Given the description of an element on the screen output the (x, y) to click on. 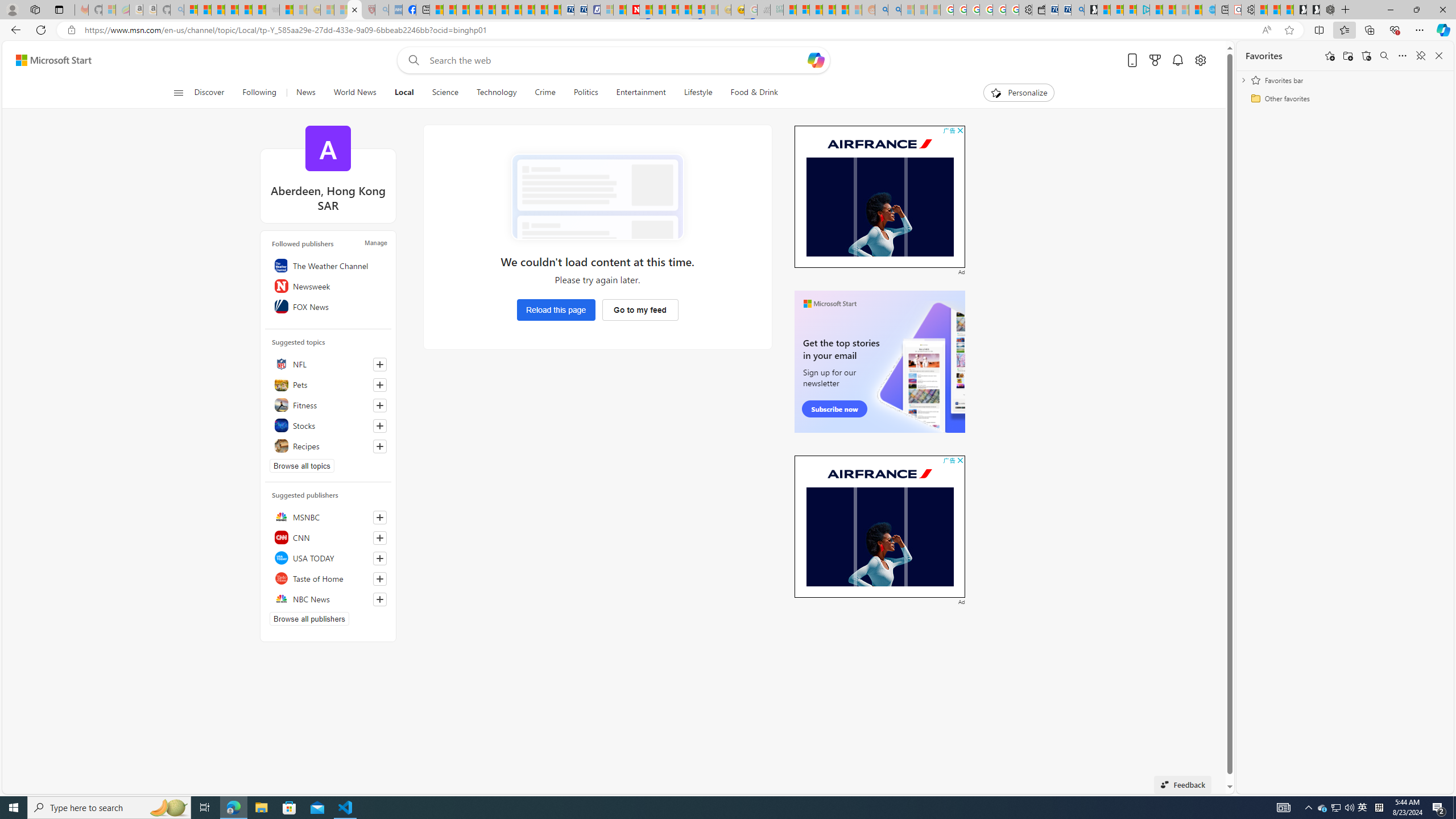
Combat Siege - Sleeping (271, 9)
